Given the description of an element on the screen output the (x, y) to click on. 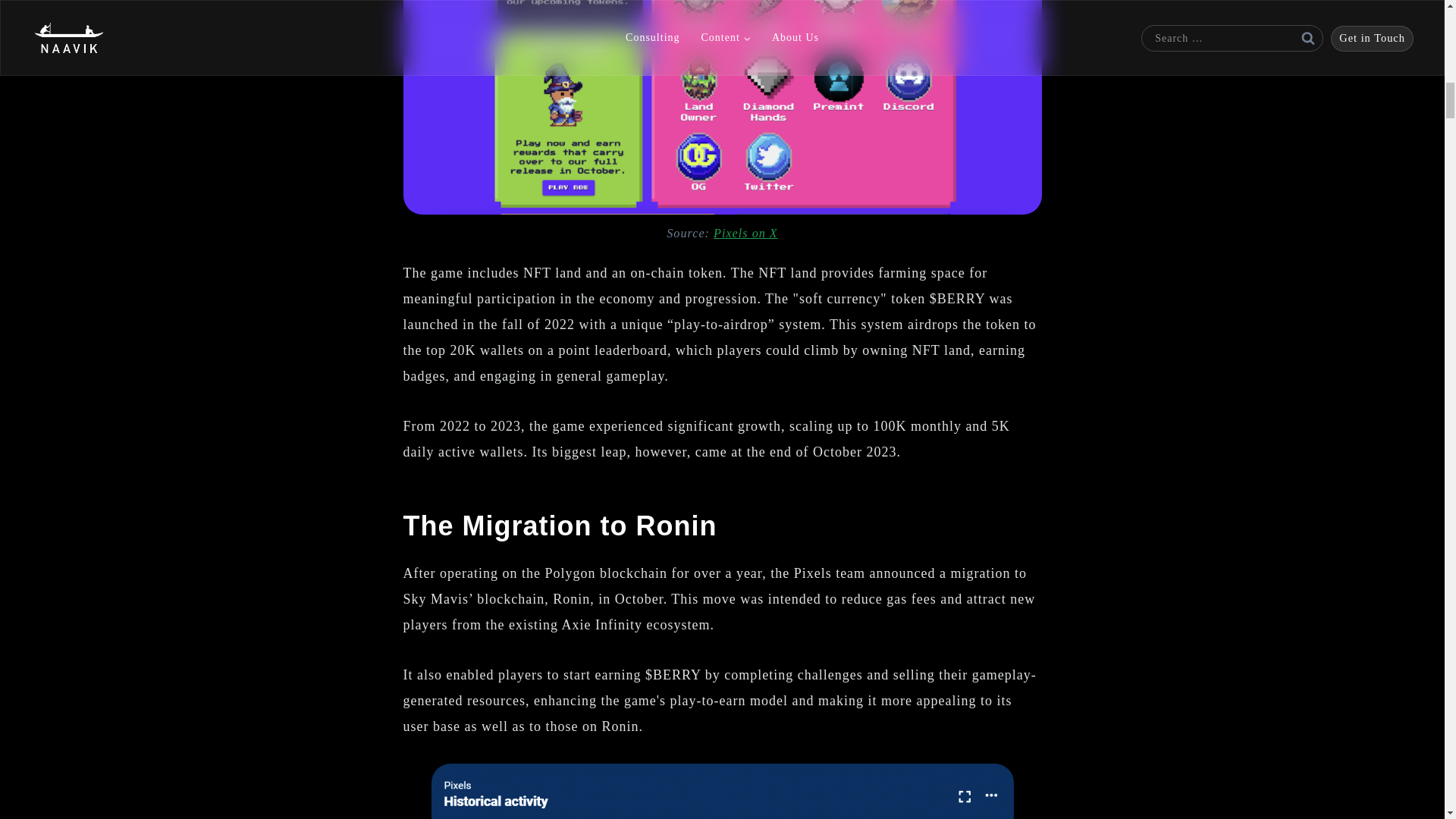
Pixels on X (745, 233)
